Given the description of an element on the screen output the (x, y) to click on. 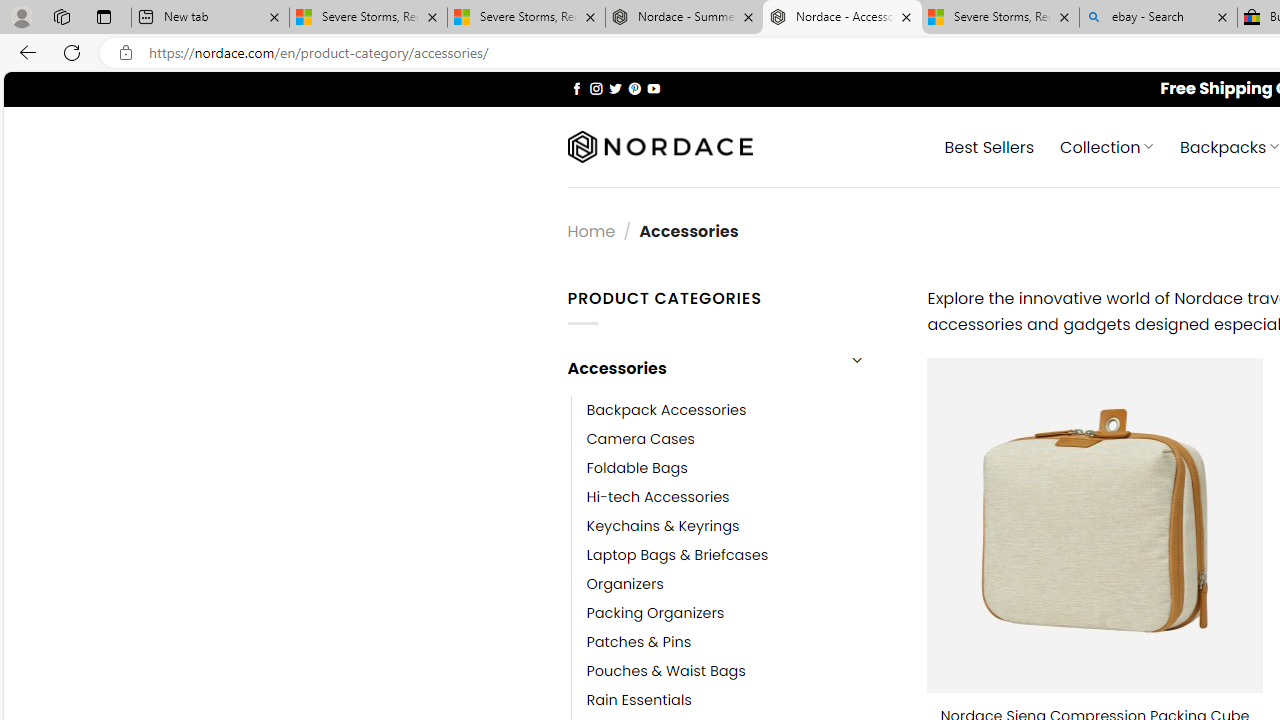
Keychains & Keyrings (662, 526)
Foldable Bags (637, 467)
Patches & Pins (639, 642)
  Best Sellers (989, 146)
Hi-tech Accessories (657, 496)
Packing Organizers (655, 614)
Laptop Bags & Briefcases (677, 555)
Organizers (625, 584)
Patches & Pins (742, 642)
